Given the description of an element on the screen output the (x, y) to click on. 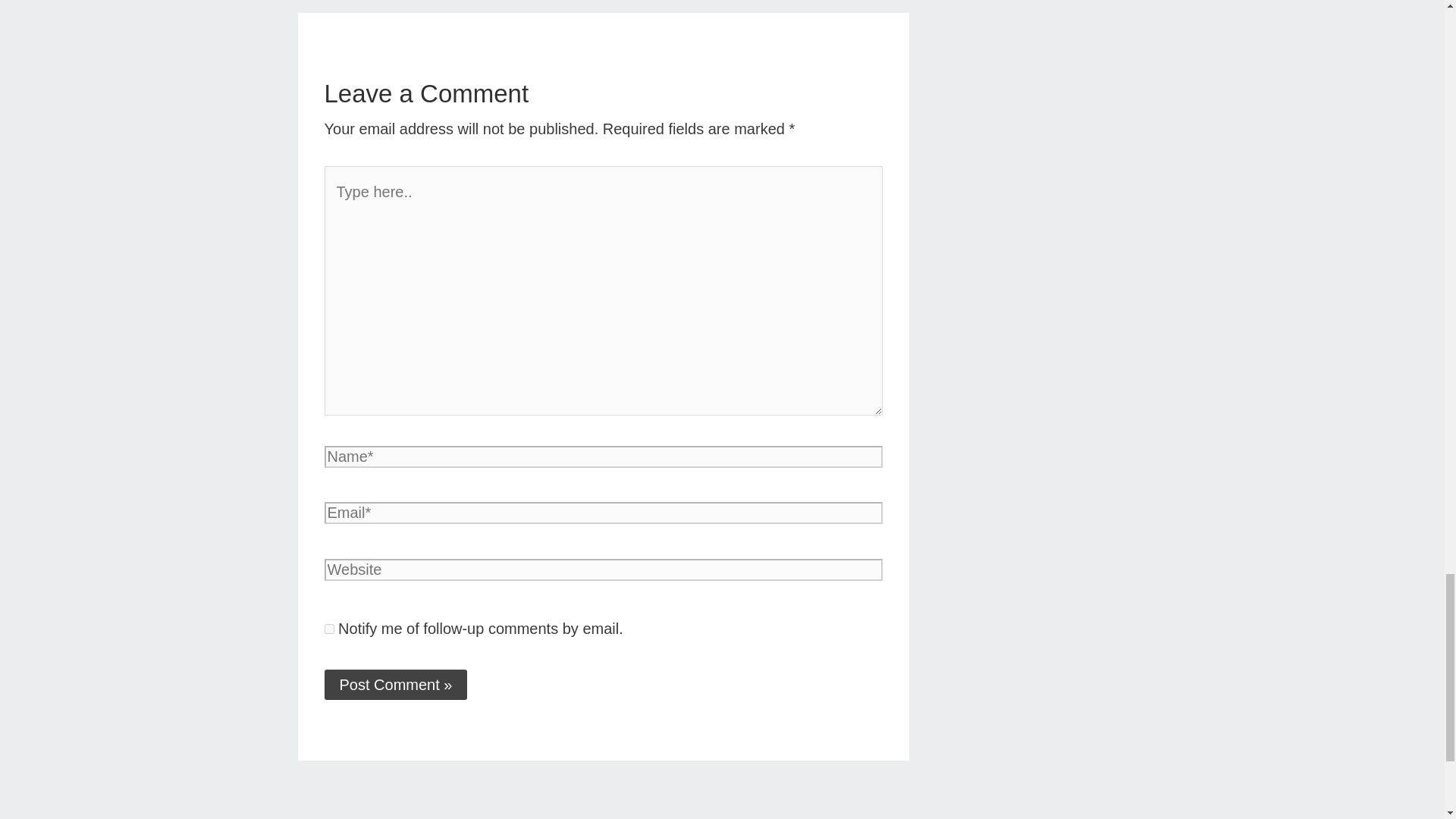
subscribe (329, 628)
